Given the description of an element on the screen output the (x, y) to click on. 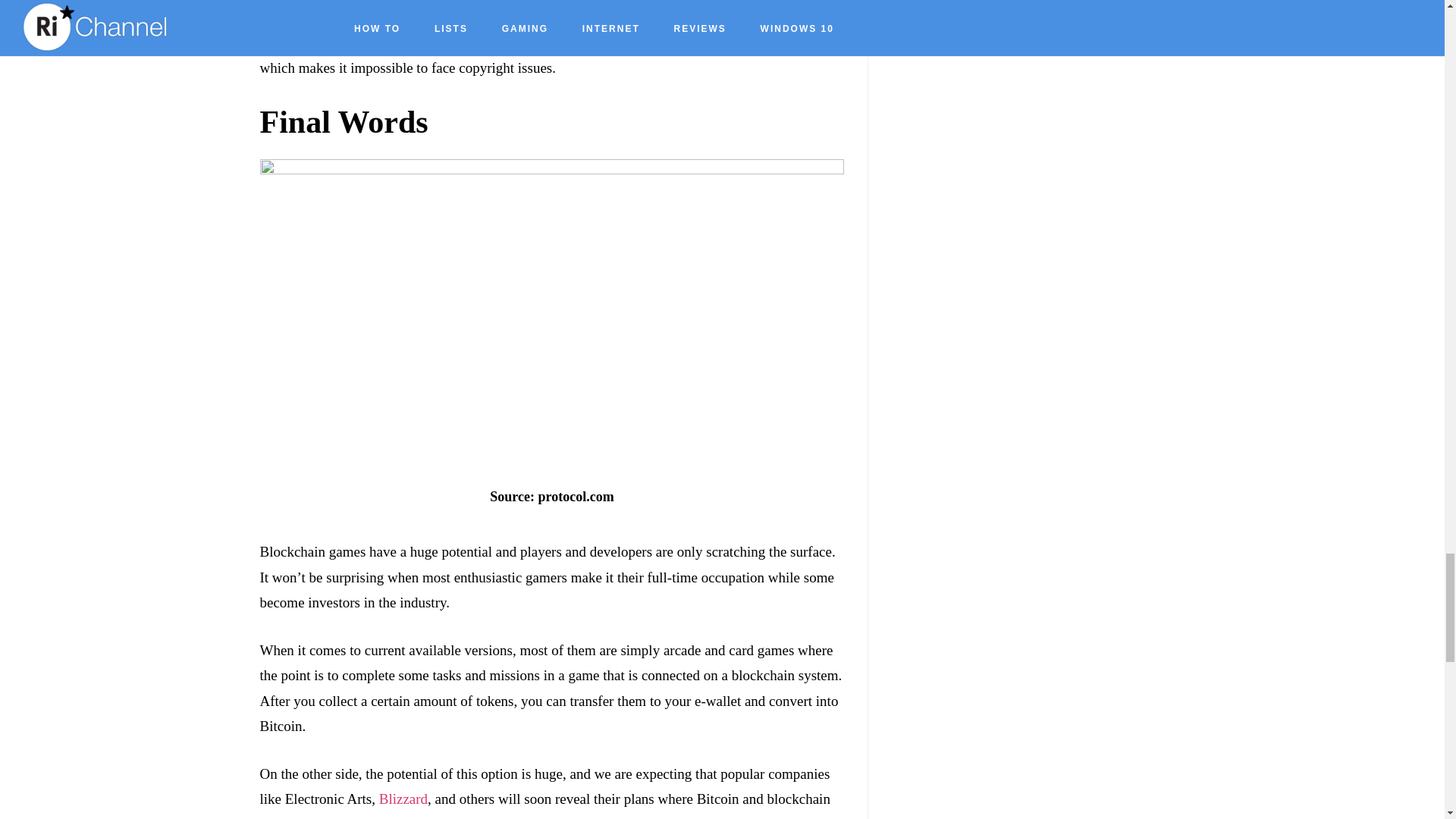
Blizzard (403, 798)
